Given the description of an element on the screen output the (x, y) to click on. 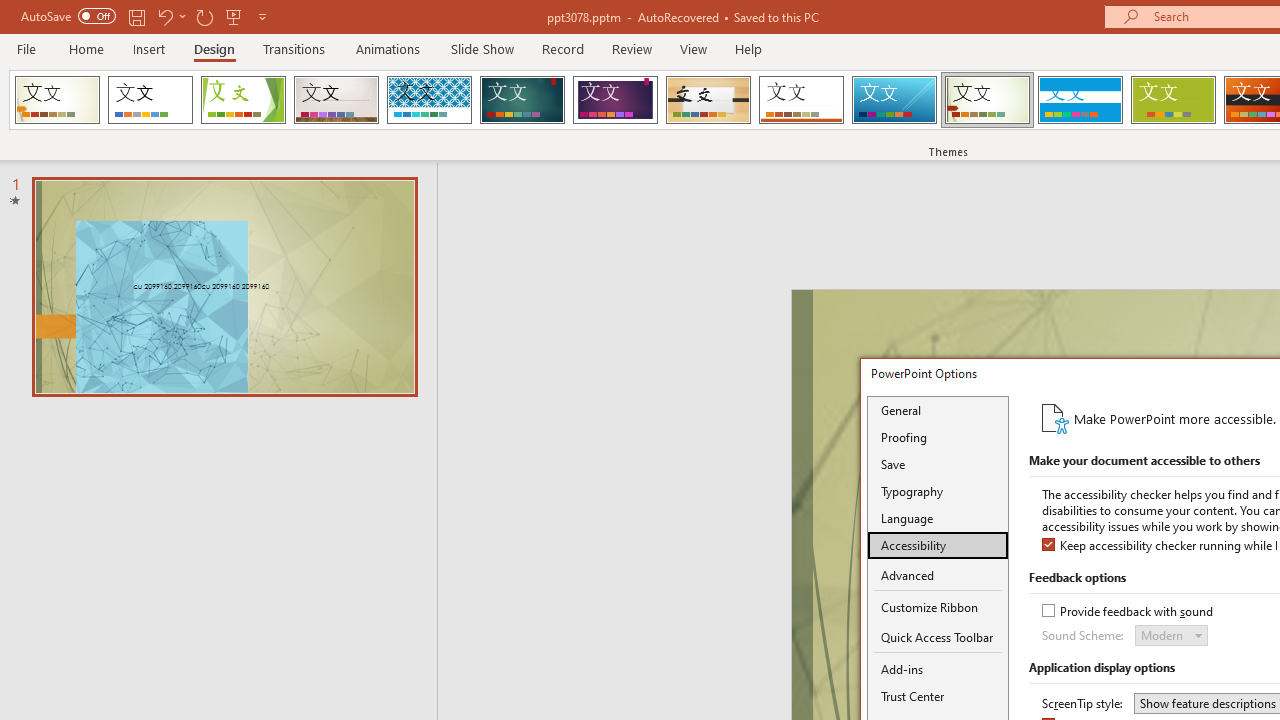
General (937, 410)
Office Theme (150, 100)
